Given the description of an element on the screen output the (x, y) to click on. 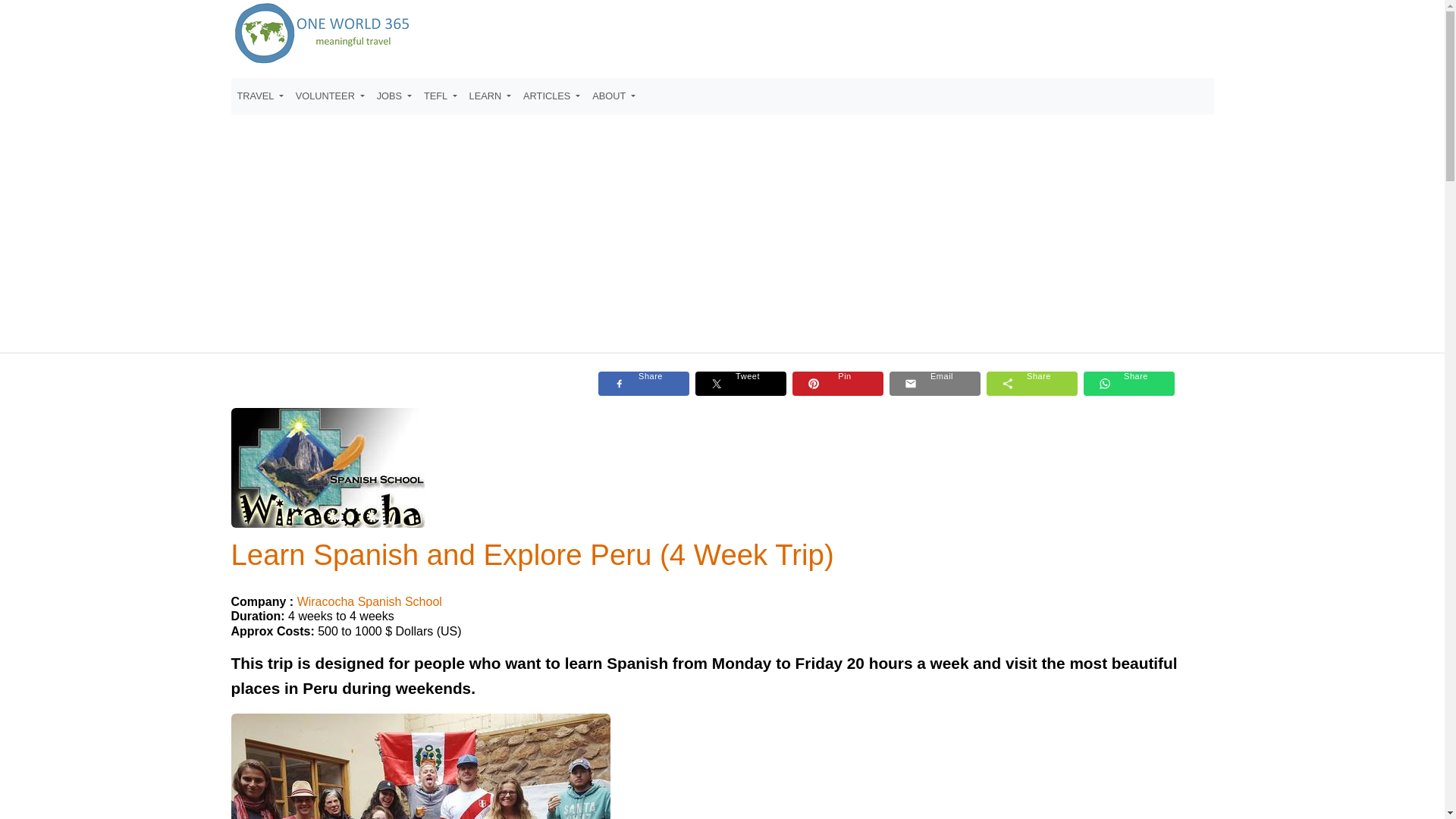
VOLUNTEER (330, 96)
TEFL (440, 96)
TRAVEL (259, 96)
JOBS (394, 96)
